Given the description of an element on the screen output the (x, y) to click on. 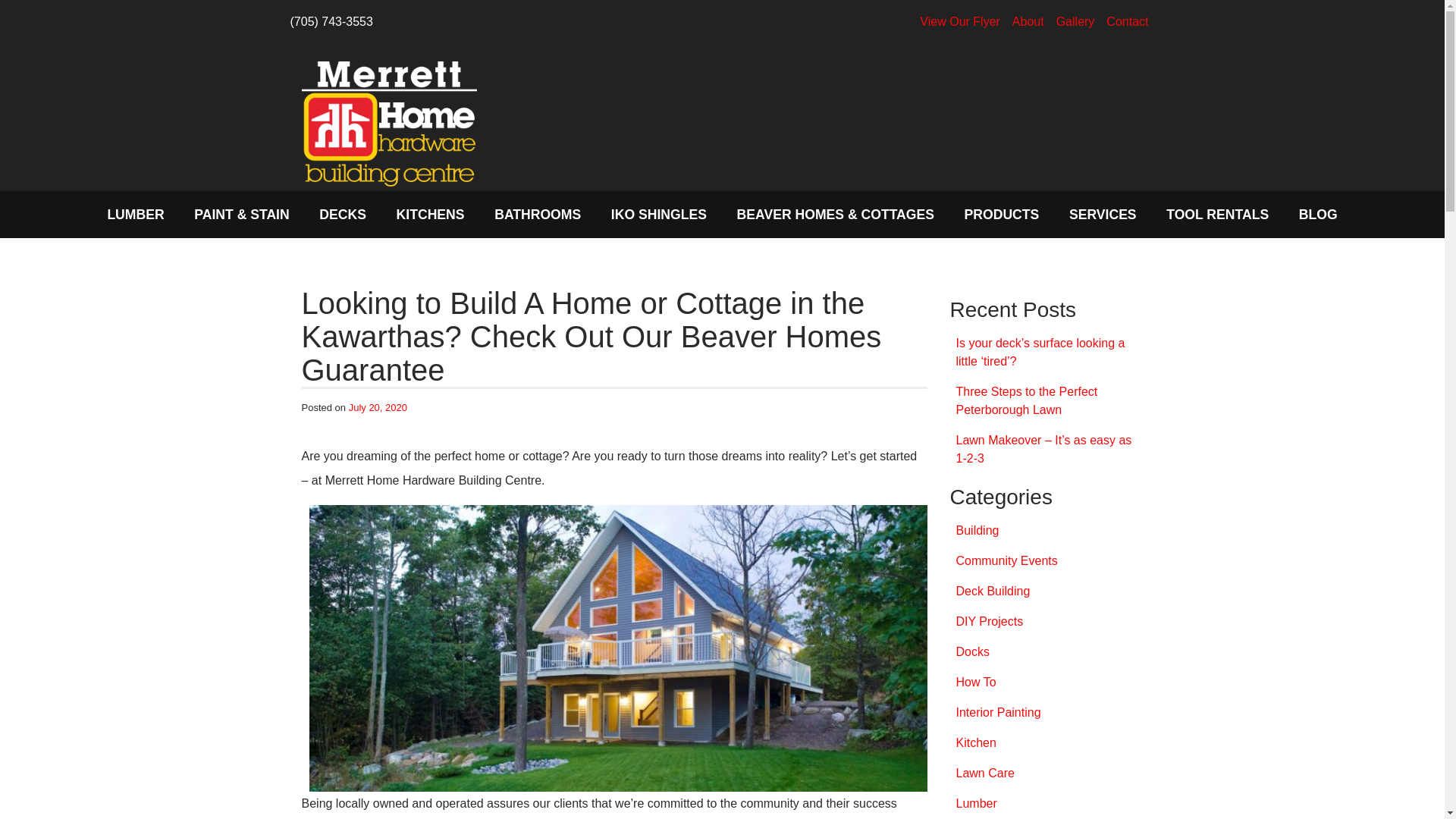
Blog (1318, 214)
DECKS (342, 214)
LUMBER (135, 214)
Community Events (1045, 561)
Contact (1127, 21)
Kitchen (1045, 743)
Tool Rentals (1217, 214)
Decks (342, 214)
Bathrooms (537, 214)
Building (1045, 530)
